Given the description of an element on the screen output the (x, y) to click on. 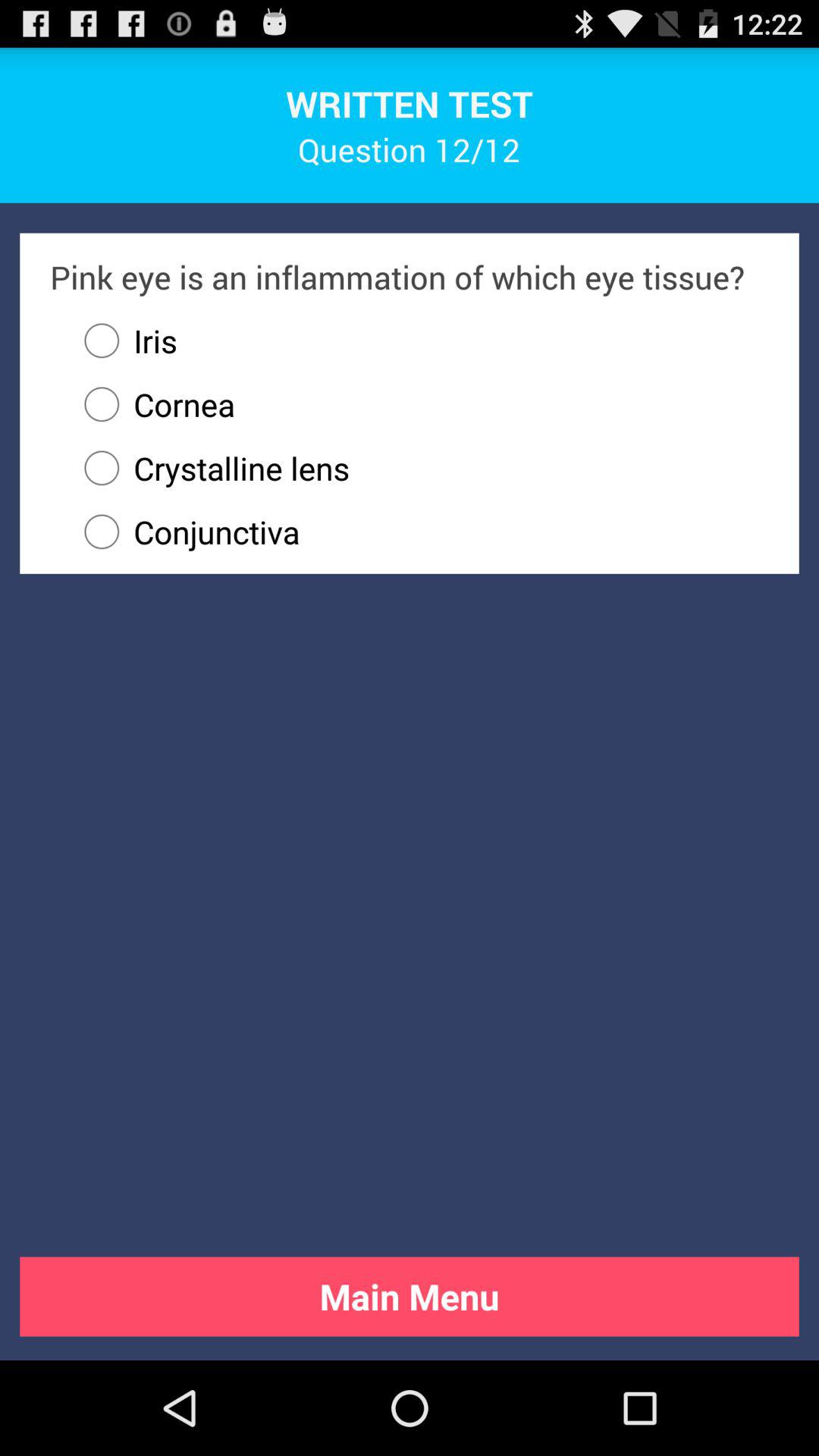
launch radio button above cornea (123, 340)
